Given the description of an element on the screen output the (x, y) to click on. 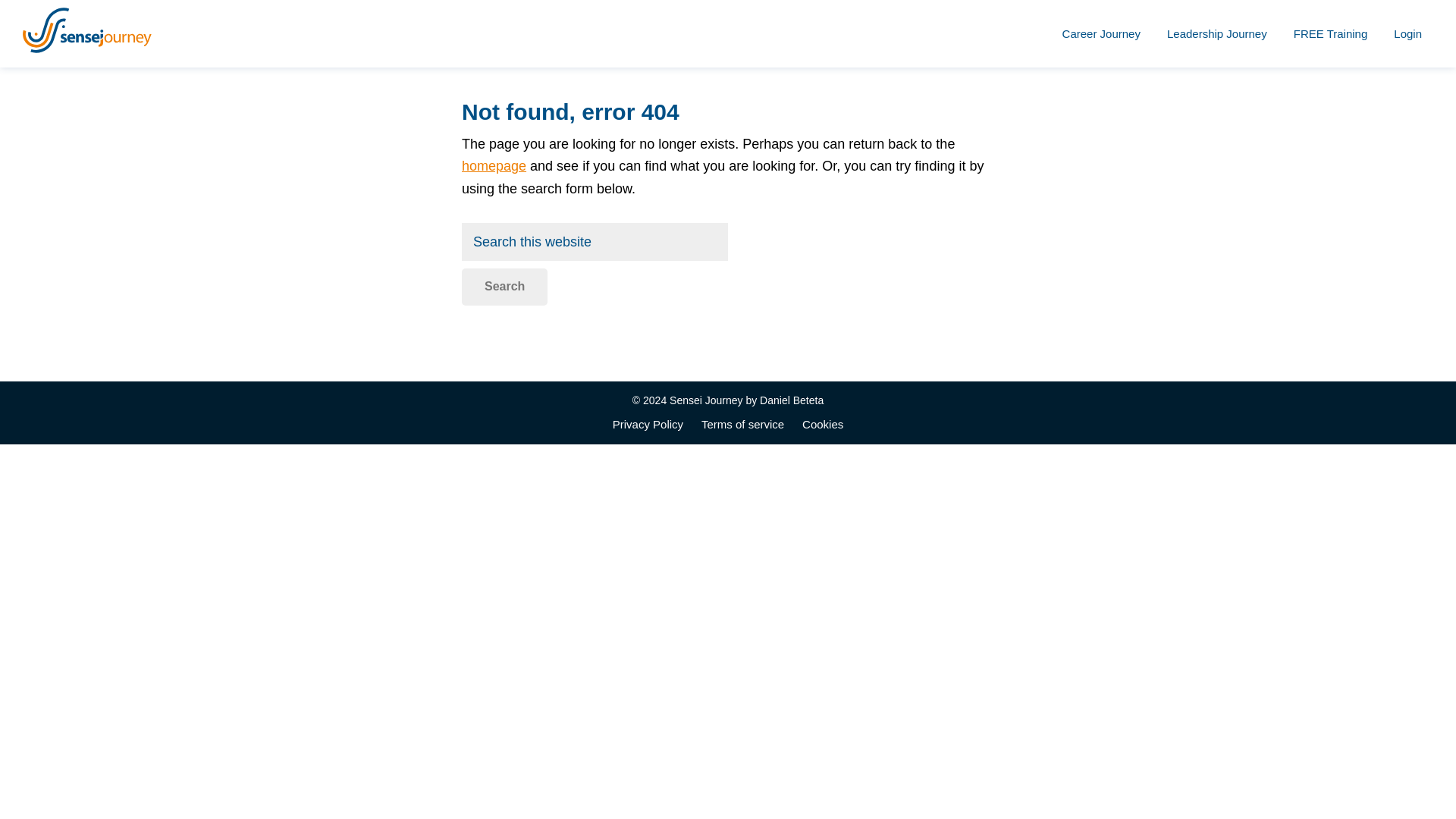
FREE Training (1330, 33)
Cookies (822, 425)
Terms of service (742, 425)
Leadership Journey (1217, 33)
Privacy Policy (647, 425)
homepage (493, 165)
Search (504, 286)
Search (504, 286)
Career Journey (1101, 33)
